Given the description of an element on the screen output the (x, y) to click on. 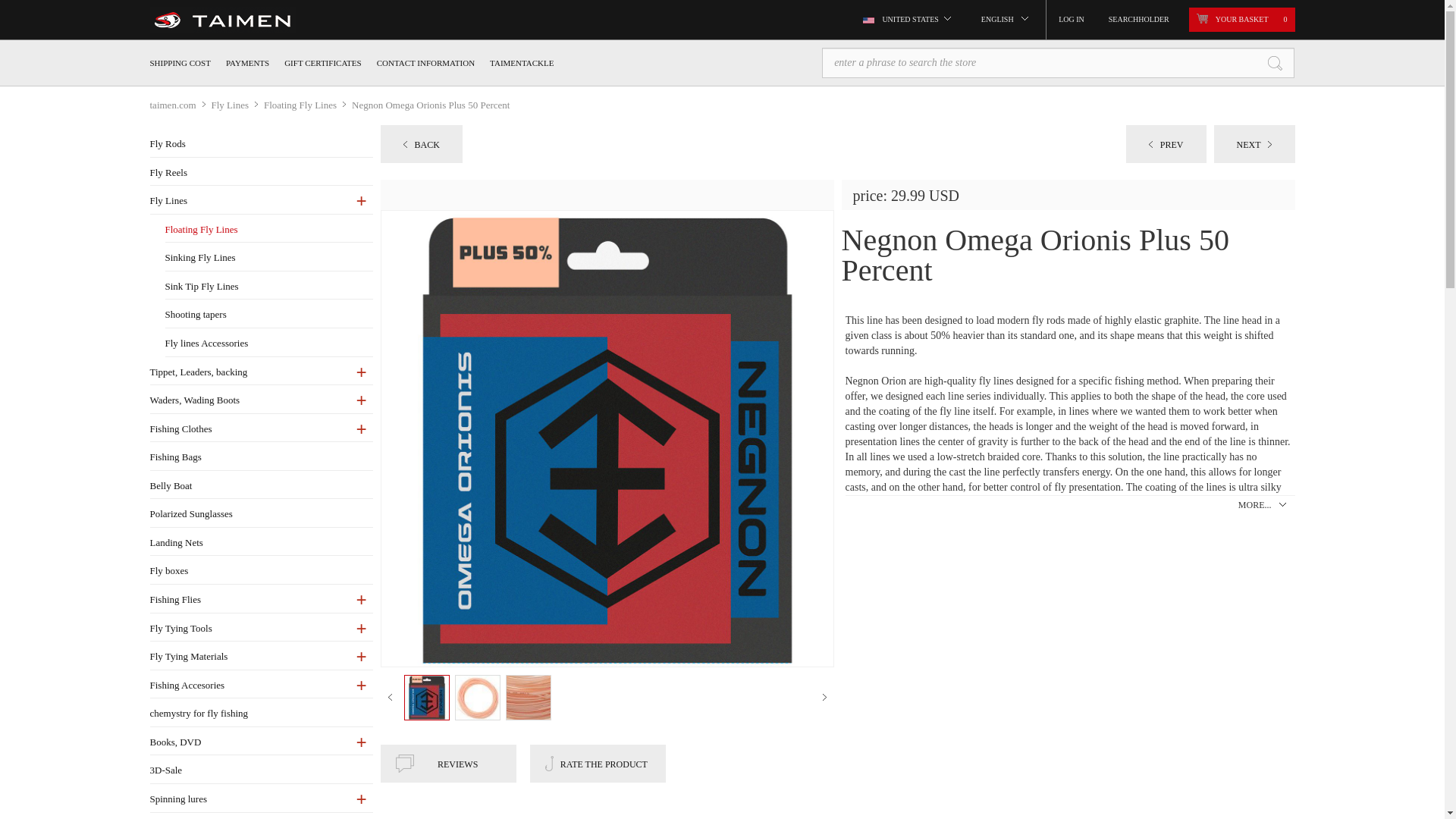
Fishing Bags (260, 457)
Fly Lines (260, 201)
Fly Lines (237, 104)
PAYMENTS (247, 62)
Fly Lines (237, 104)
Floating Fly Lines (307, 104)
Fly Tying Tools (260, 628)
TAIMENTACKLE (521, 62)
Floating Fly Lines (307, 104)
Fly Rods (260, 144)
Spinning lures (260, 799)
SEARCHHOLDER (1138, 19)
Belly Boat (260, 486)
Fly Reels (260, 173)
